Given the description of an element on the screen output the (x, y) to click on. 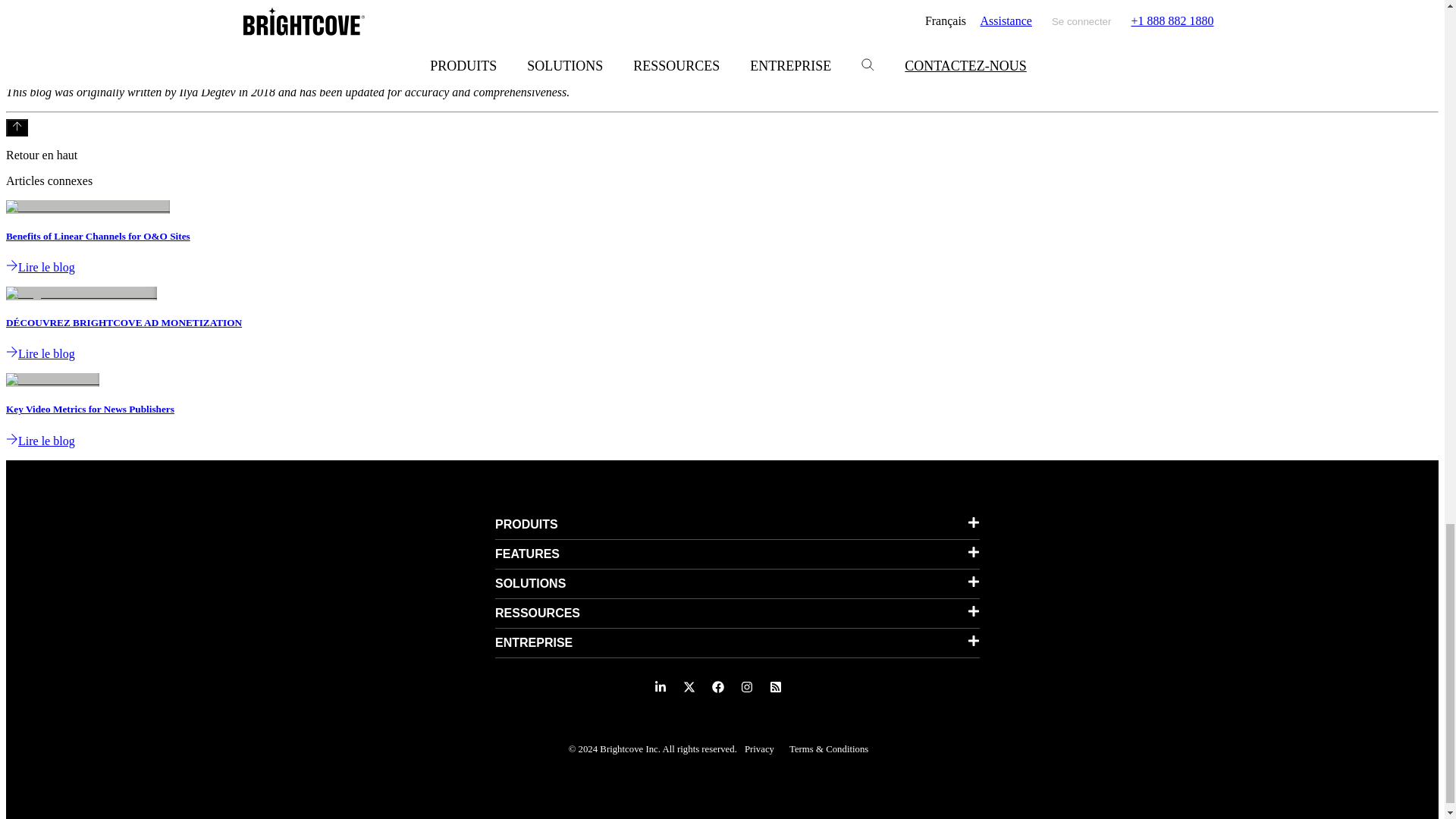
What Makes a Great Online Video Player? (275, 40)
Integrate with WatchingThat on the Brightcove Marketplace (840, 65)
WatchingThat (840, 65)
Making QoE Actionable for Video Streaming (621, 65)
a player like Brightcove (275, 40)
Ad Workflow with Brightcove Player (528, 40)
latest standards for IMA, VPAID, and VAST (528, 40)
